Given the description of an element on the screen output the (x, y) to click on. 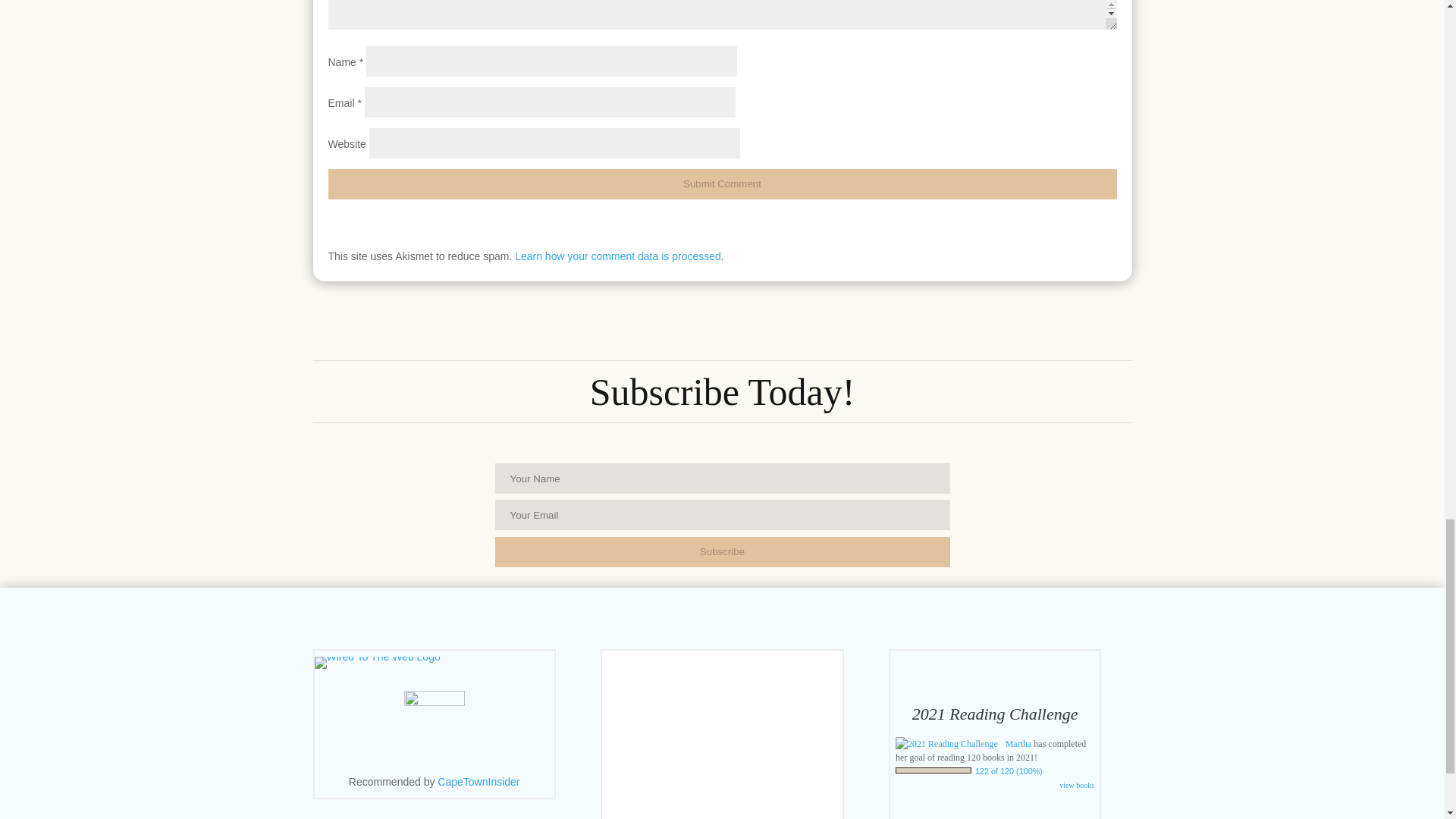
Subscribe (722, 552)
Cape Town Influencers (478, 781)
Wired To The Web Logo (376, 662)
